Given the description of an element on the screen output the (x, y) to click on. 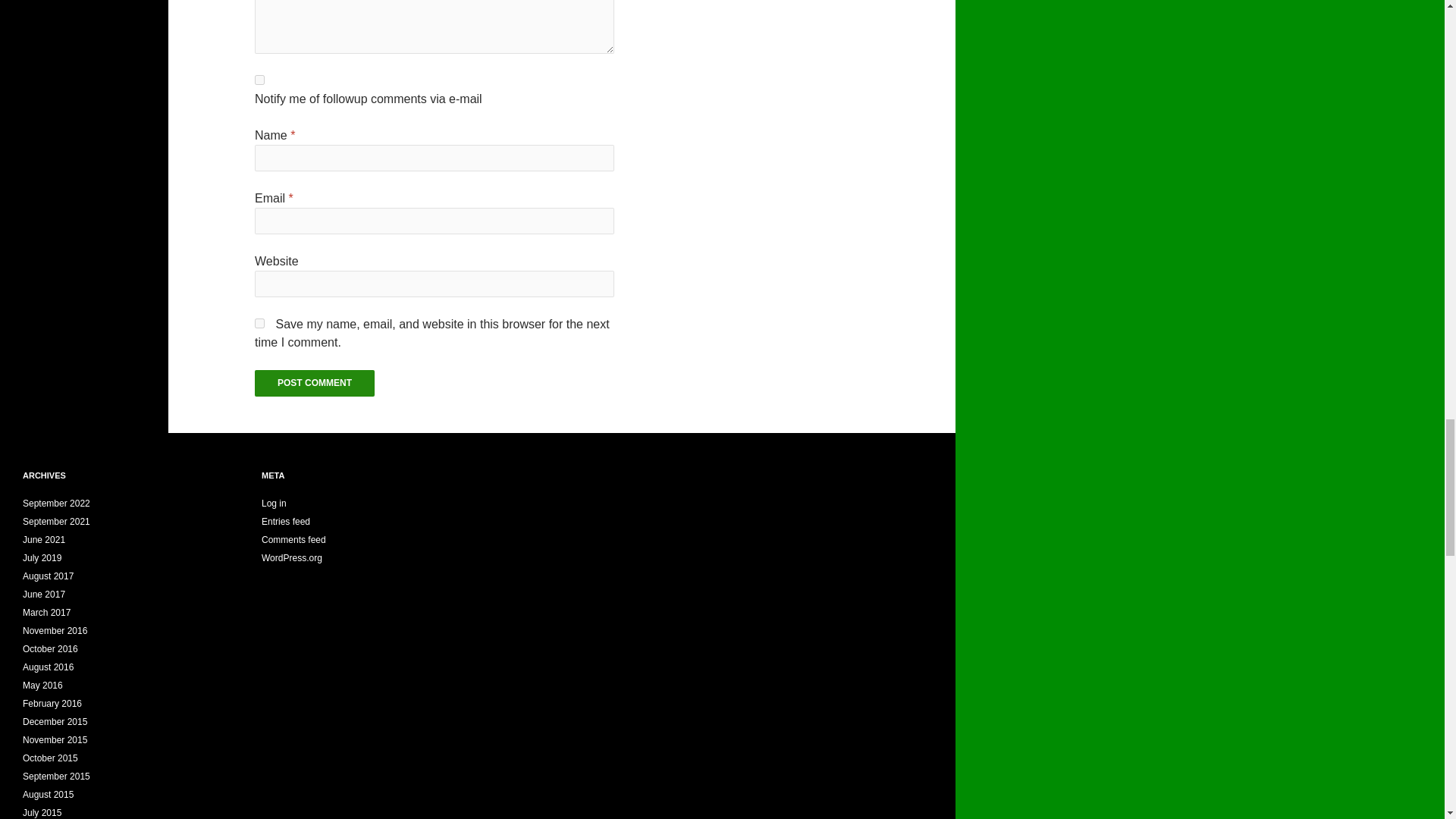
Post Comment (314, 383)
yes (259, 323)
Post Comment (314, 383)
subscribe (259, 80)
